Given the description of an element on the screen output the (x, y) to click on. 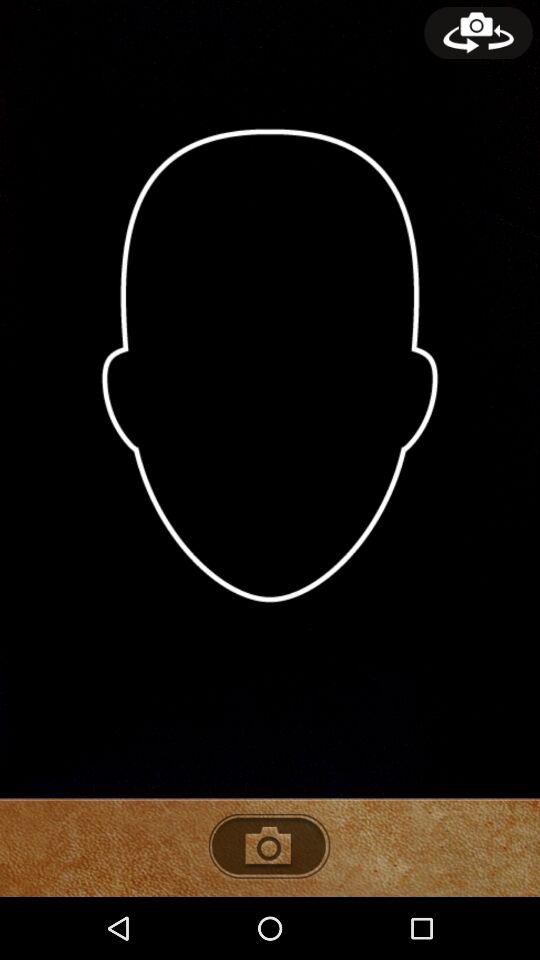
camera rotate icon (478, 33)
